Given the description of an element on the screen output the (x, y) to click on. 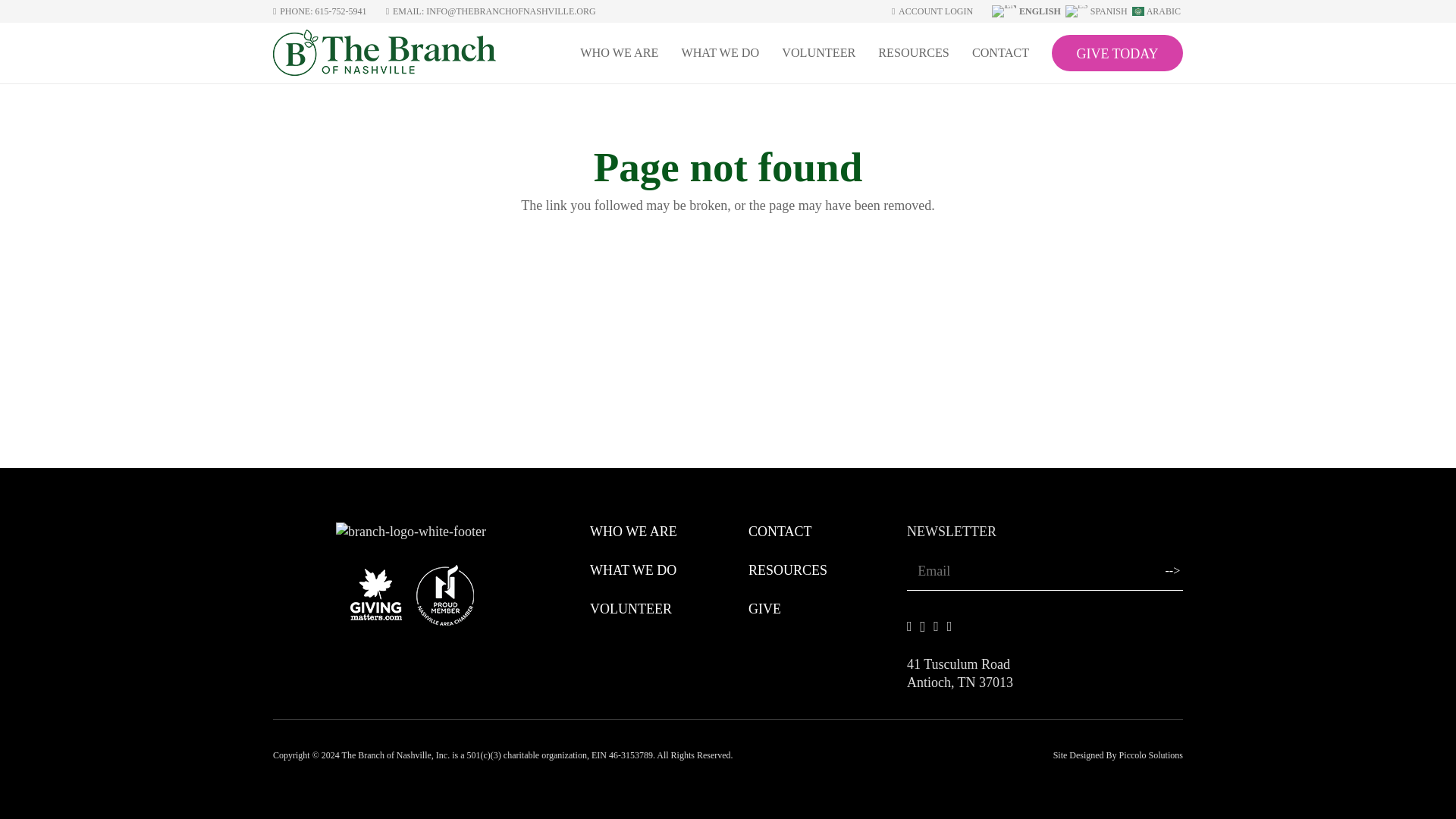
PHONE: 615-752-5941 (319, 10)
ARABIC (1157, 9)
SPANISH (1097, 9)
RESOURCES (913, 53)
VOLUNTEER (630, 608)
ACCOUNT LOGIN (931, 10)
GIVE TODAY (1116, 53)
GIVE (764, 608)
WHAT WE DO (719, 53)
WHO WE ARE (619, 53)
